Given the description of an element on the screen output the (x, y) to click on. 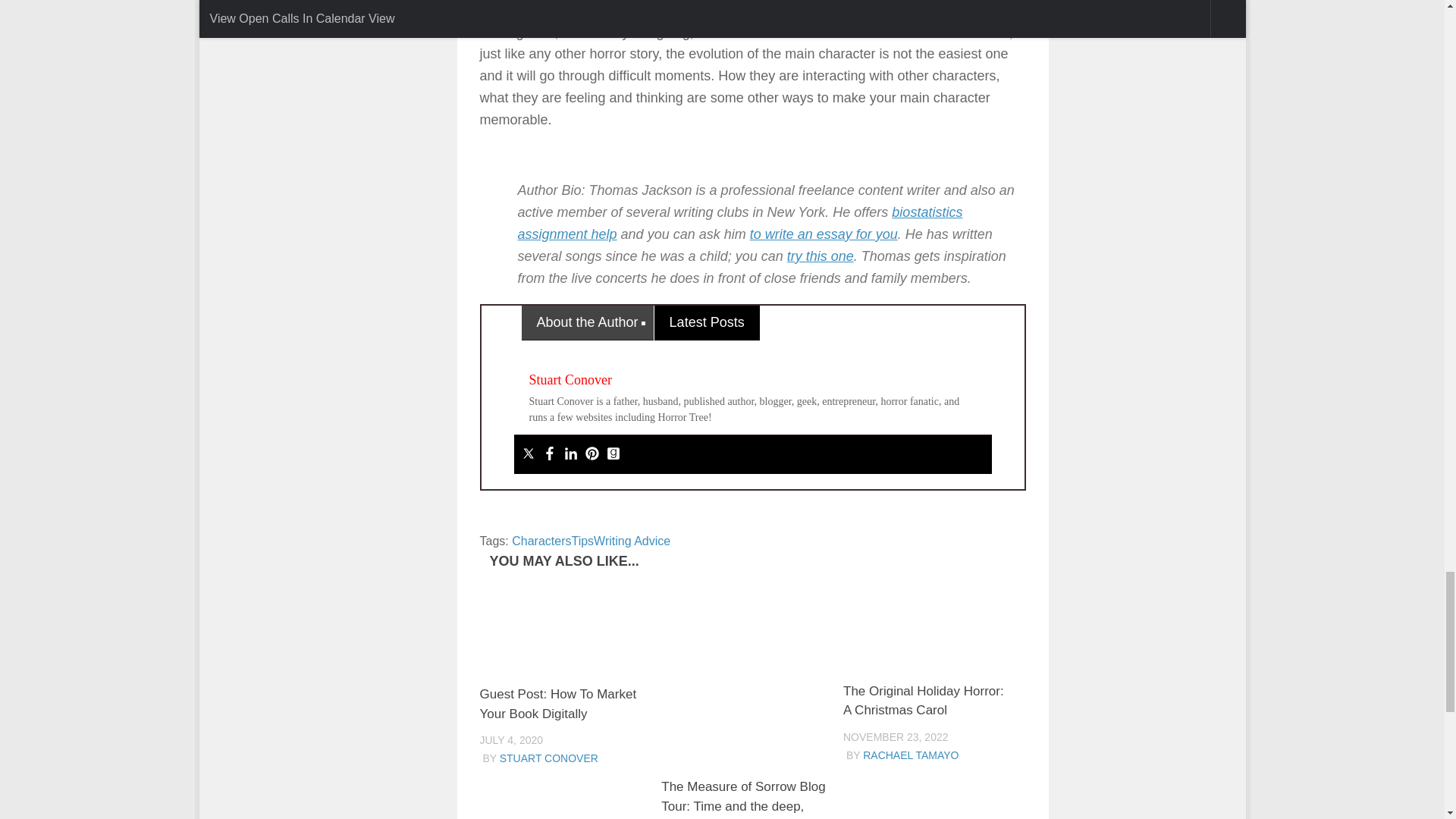
Posts by Rachael Tamayo (910, 755)
Posts by Stuart Conover (548, 758)
